Given the description of an element on the screen output the (x, y) to click on. 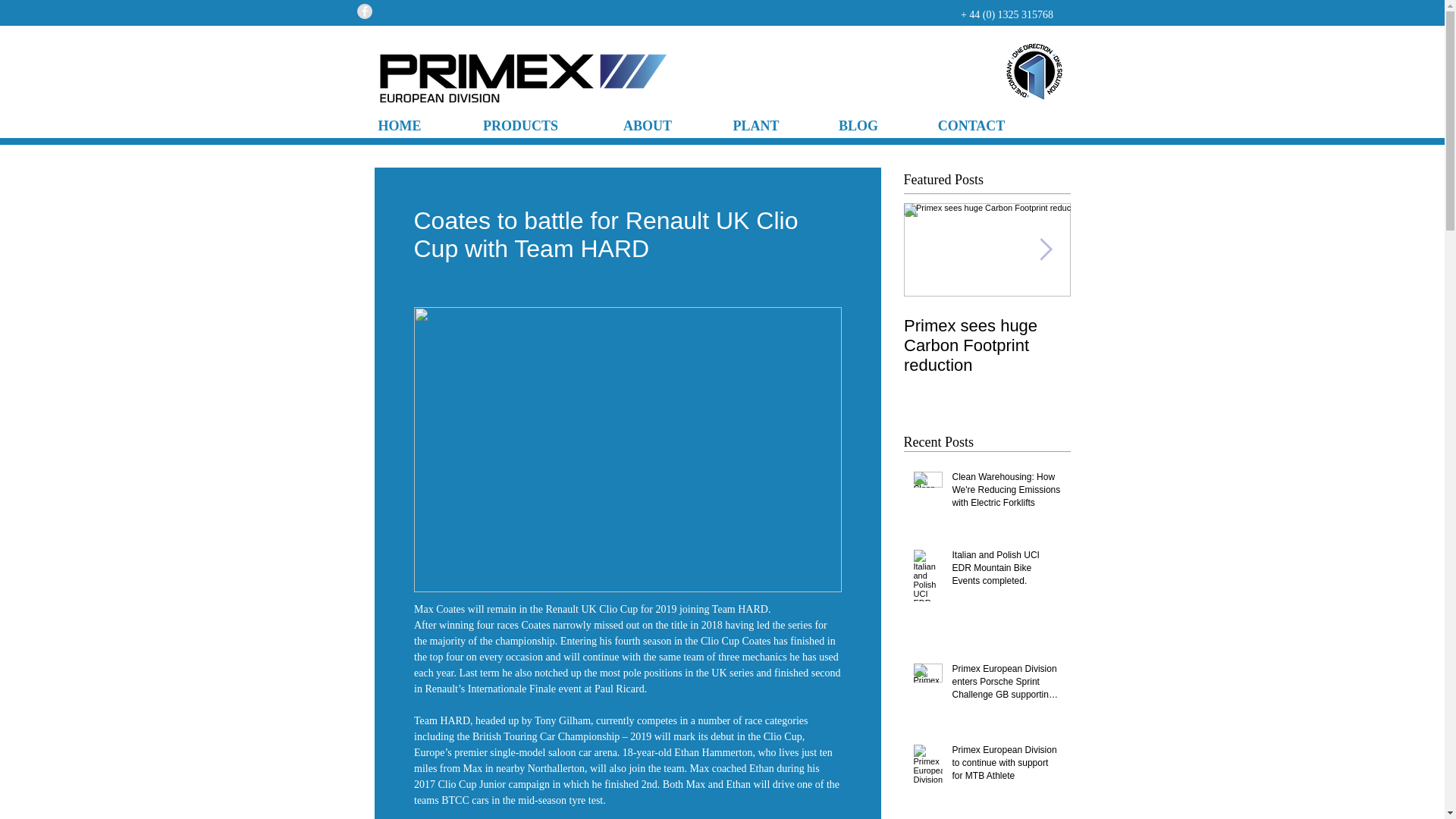
HOME (399, 126)
BLOG (858, 126)
CONTACT (971, 126)
International Trade Summit, 2019 (1153, 335)
PRODUCTS (520, 126)
ABOUT (647, 126)
Primex One One One Logo.png (1033, 71)
Primex sees huge Carbon Footprint reduction (987, 345)
Italian and Polish UCI EDR Mountain Bike Events completed. (1006, 570)
PLANT (755, 126)
